Given the description of an element on the screen output the (x, y) to click on. 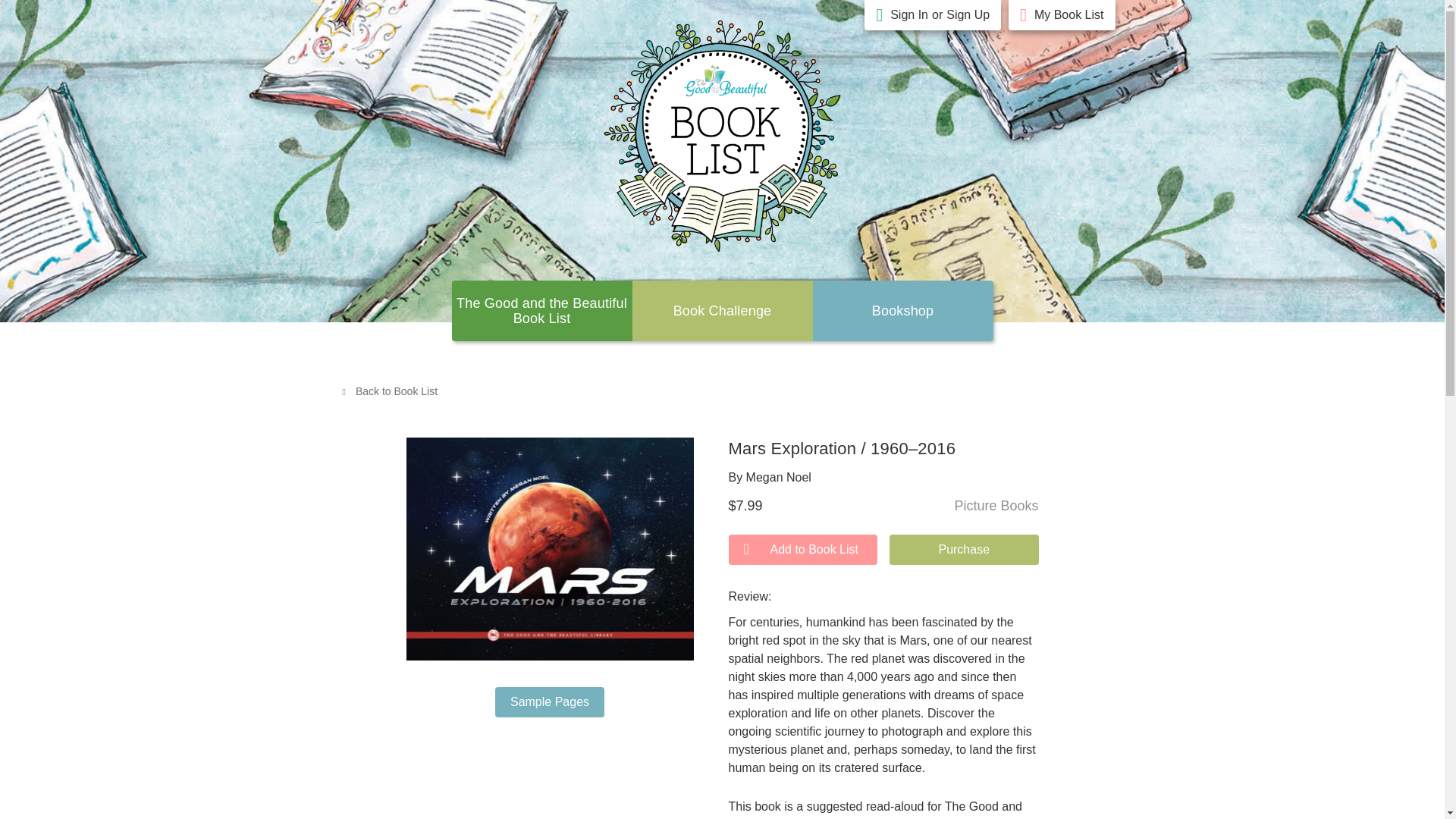
Bookshop (903, 310)
The Good and the Beautiful Book List (541, 310)
Add to Book List (802, 549)
Purchase (964, 549)
Sign In (908, 14)
Sample Pages (549, 702)
Sign Up (968, 14)
Library (903, 310)
Back to Book List (389, 390)
